Given the description of an element on the screen output the (x, y) to click on. 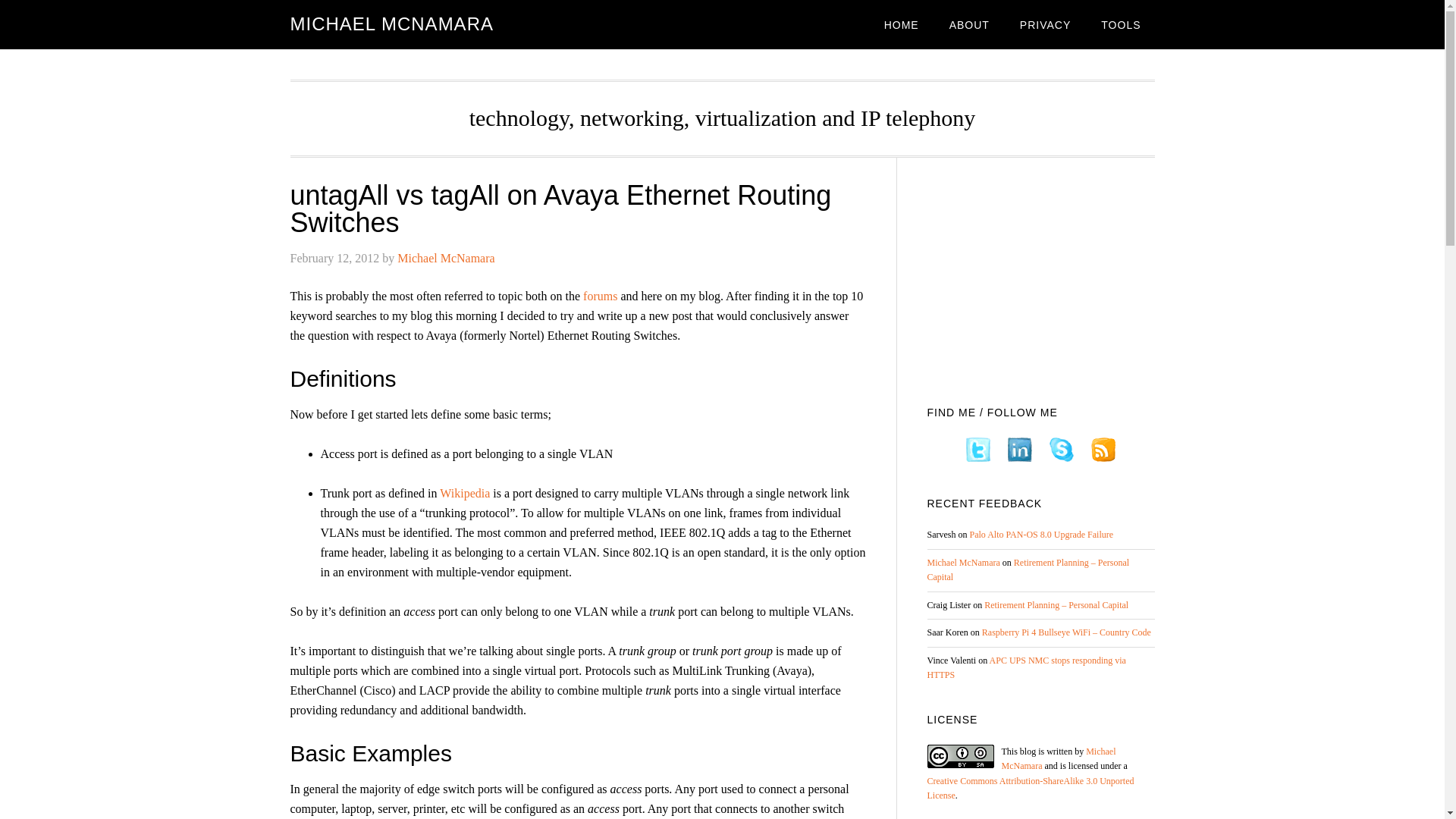
Michael McNamara (446, 257)
Michael McNamara (1058, 759)
untagAll vs tagAll on Avaya Ethernet Routing Switches (560, 208)
PRIVACY (1045, 24)
MICHAEL MCNAMARA (391, 23)
Palo Alto PAN-OS 8.0 Upgrade Failure (1041, 534)
TOOLS (1120, 24)
ABOUT (969, 24)
Advertisement (1040, 276)
forums (601, 295)
Wikipedia (464, 492)
APC UPS NMC stops responding via HTTPS (1025, 667)
Michael McNamara (962, 562)
HOME (901, 24)
